Given the description of an element on the screen output the (x, y) to click on. 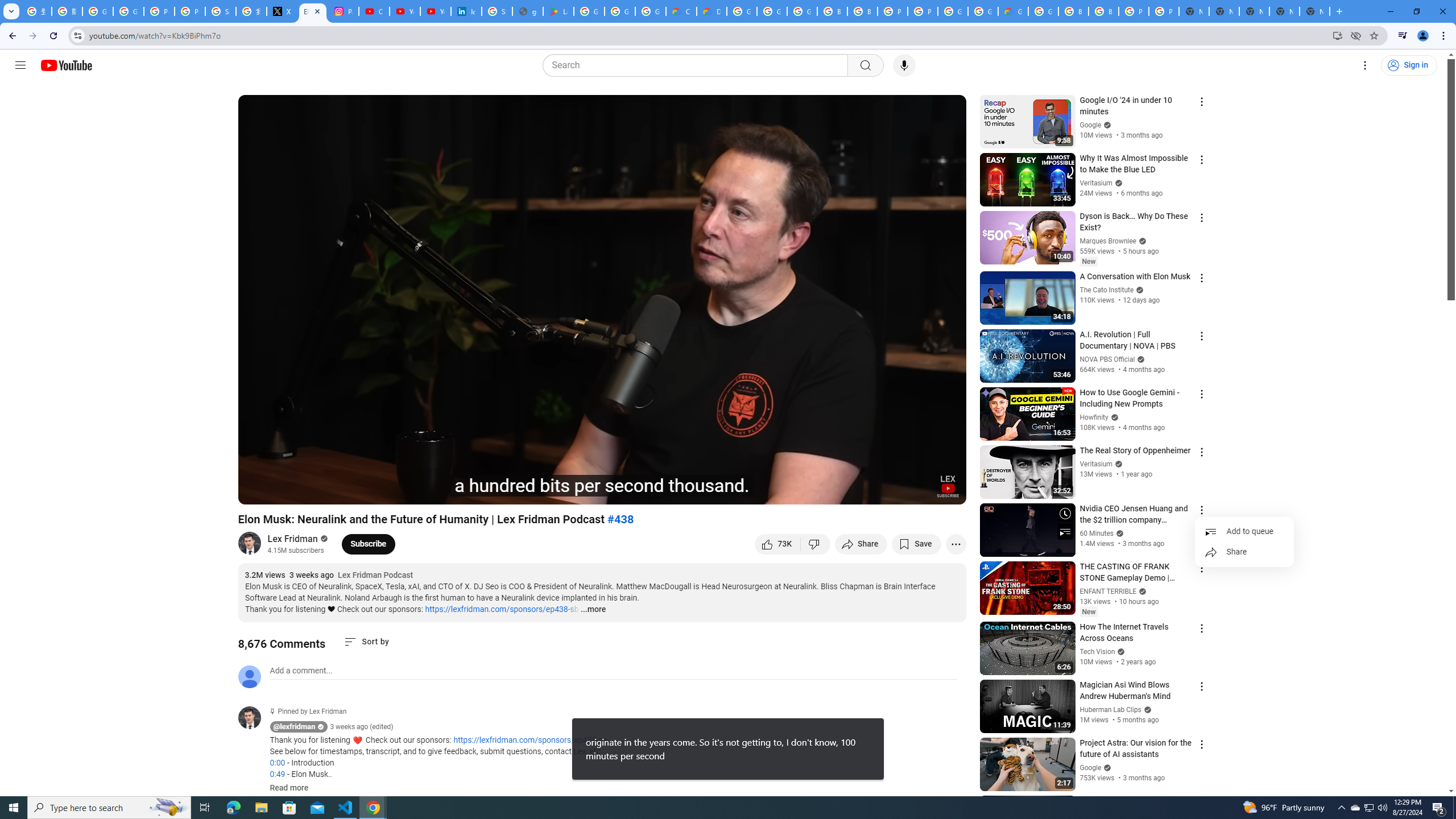
Lex Fridman (292, 538)
Share (861, 543)
https://lexfridman.com/sponsors/ep438-sa (529, 740)
Lex Fridman Podcast (375, 575)
Full screen (f) (945, 490)
AutomationID: simplebox-placeholder (301, 670)
Privacy Help Center - Policies Help (158, 11)
